Given the description of an element on the screen output the (x, y) to click on. 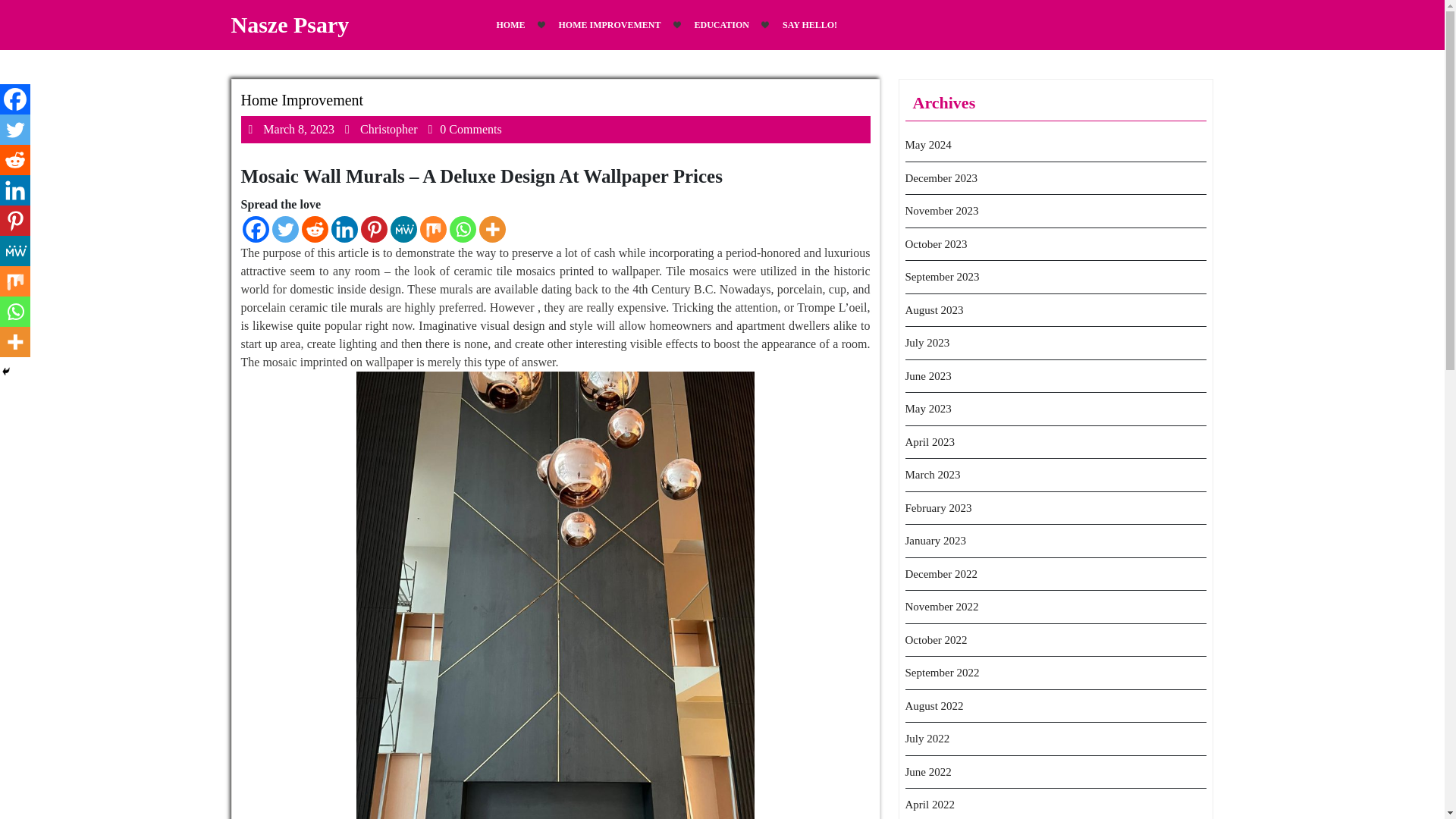
Nasze Psary (289, 24)
Whatsapp (462, 229)
EDUCATION (388, 128)
Home Improvement (721, 24)
SAY HELLO! (302, 99)
Mix (809, 24)
Twitter (433, 229)
Linkedin (15, 129)
Pinterest (15, 190)
